Given the description of an element on the screen output the (x, y) to click on. 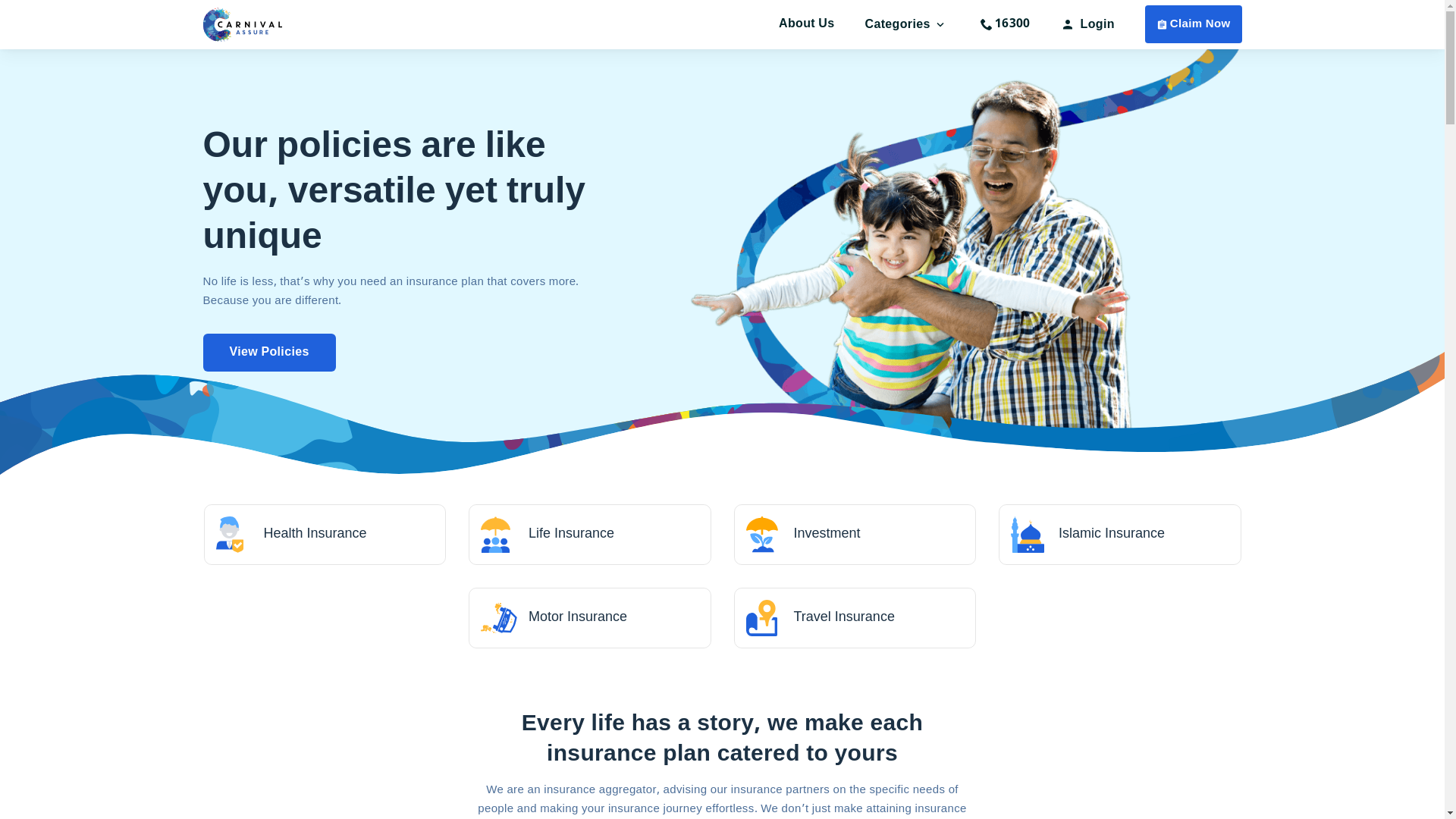
Health Insurance Element type: text (324, 534)
Islamic Insurance Element type: text (1119, 534)
Login Element type: text (1087, 24)
Life Insurance Element type: text (589, 534)
View Policies Element type: text (269, 352)
About Us Element type: text (806, 23)
Investment Element type: text (855, 534)
16300 Element type: text (1005, 23)
Travel Insurance Element type: text (855, 617)
Claim Now Element type: text (1193, 24)
Categories Element type: text (906, 24)
Motor Insurance Element type: text (589, 617)
